Given the description of an element on the screen output the (x, y) to click on. 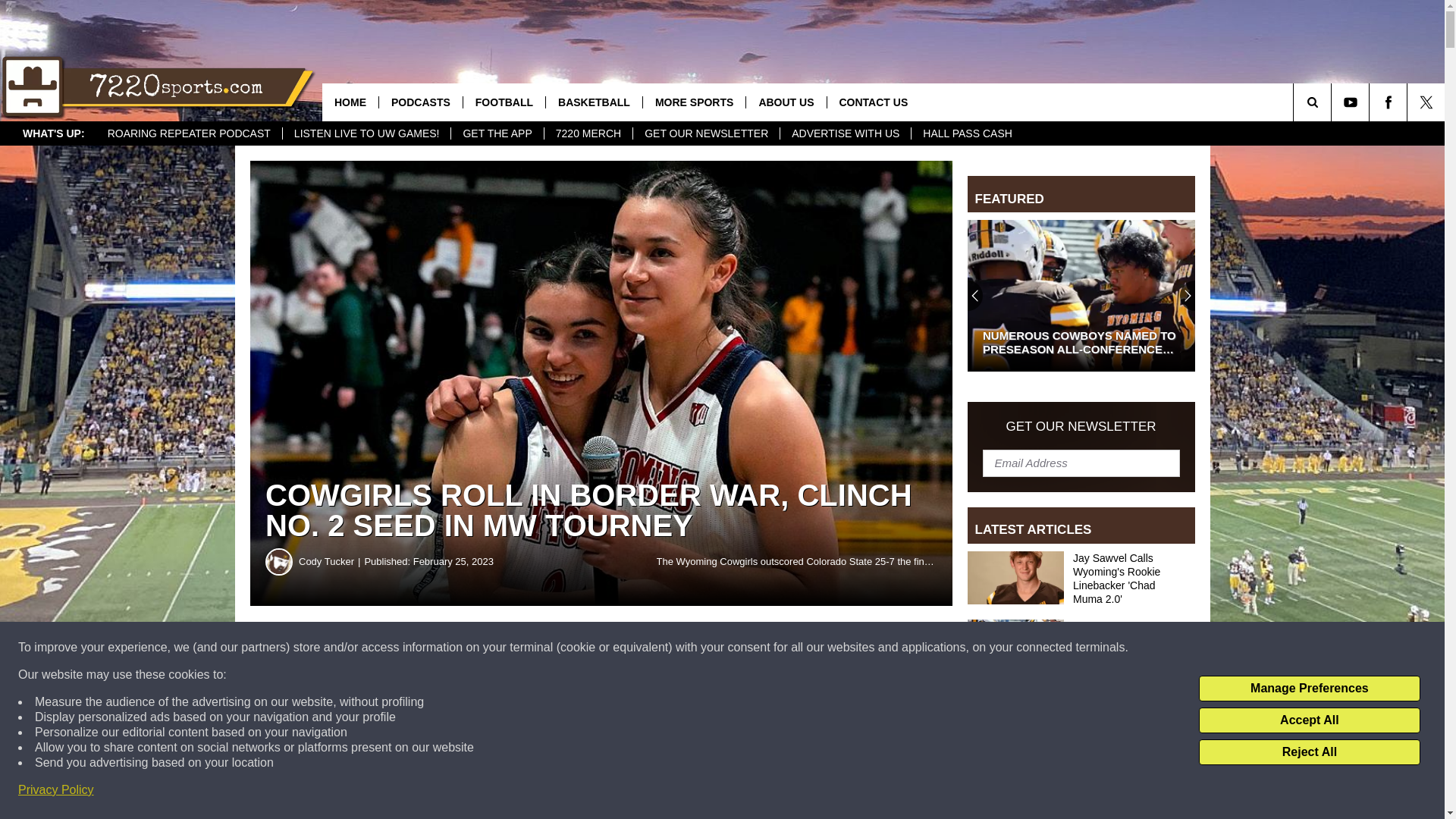
SEARCH (1333, 102)
HOME (349, 102)
BASKETBALL (593, 102)
FOOTBALL (503, 102)
ABOUT US (785, 102)
PODCASTS (420, 102)
HALL PASS CASH (967, 133)
GET THE APP (496, 133)
SEARCH (1333, 102)
7220 MERCH (587, 133)
Share on Facebook (460, 647)
ADVERTISE WITH US (844, 133)
ROARING REPEATER PODCAST (189, 133)
Accept All (1309, 720)
MORE SPORTS (693, 102)
